Given the description of an element on the screen output the (x, y) to click on. 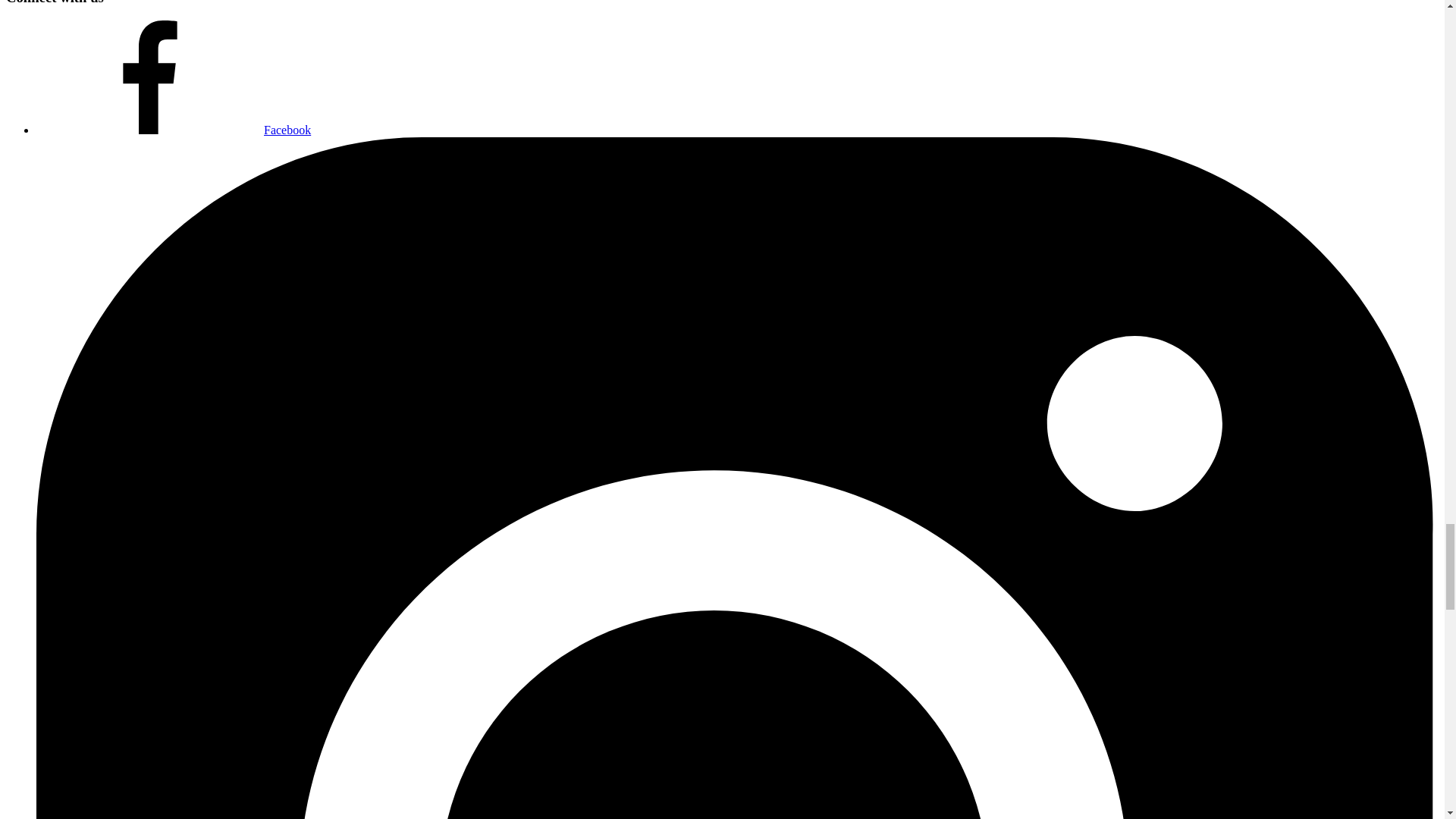
Facebook (173, 129)
